Given the description of an element on the screen output the (x, y) to click on. 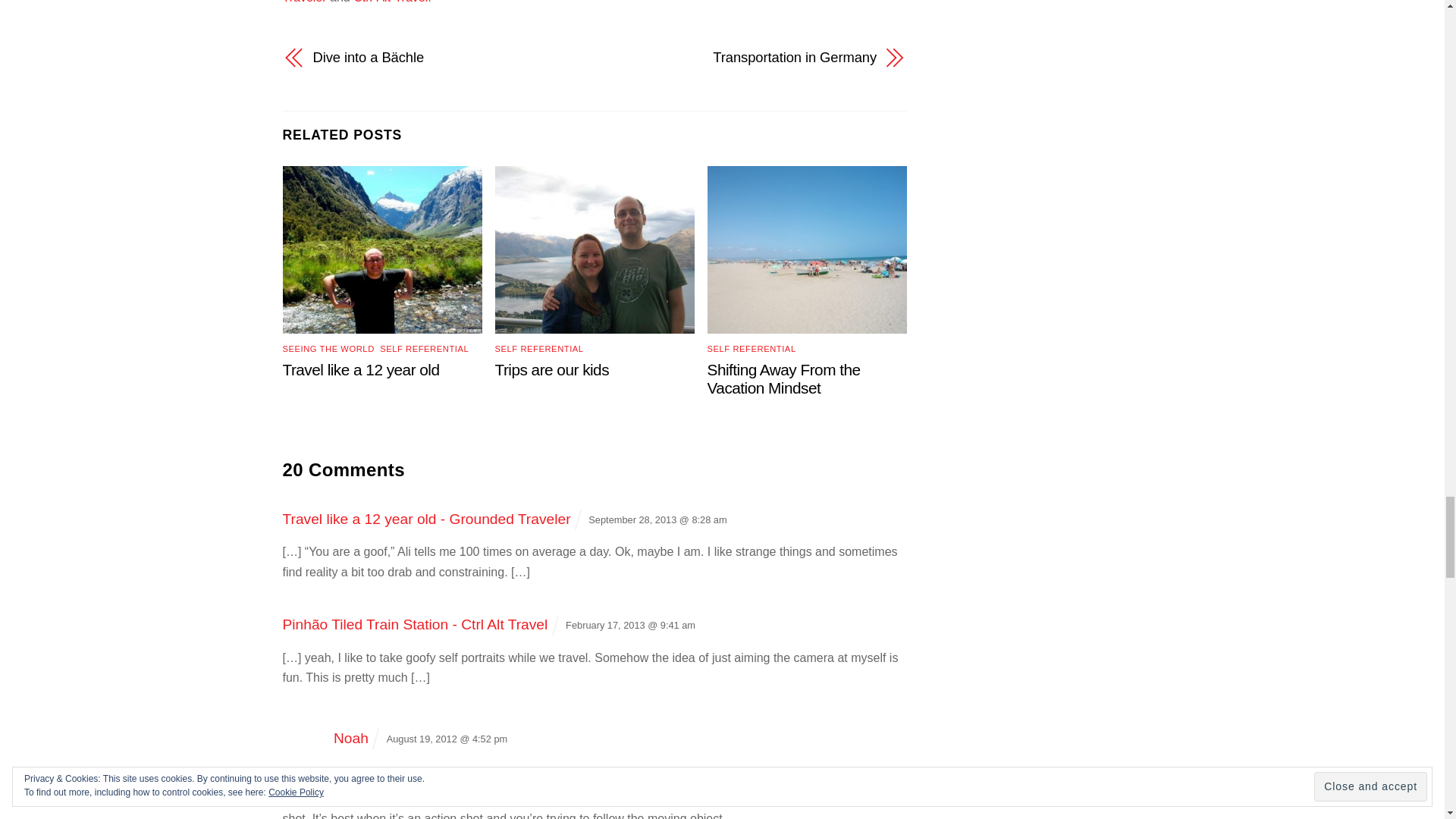
SELF REFERENTIAL (751, 347)
SELF REFERENTIAL (424, 347)
SEEING THE WORLD (328, 347)
Travel like a 12 year old - Grounded Traveler (426, 519)
Trips are our kids (552, 369)
Noah (350, 738)
Travel like a 12 year old (360, 369)
Trips are our kids (552, 369)
Shifting Away From the Vacation Mindset (783, 378)
Ctrl-Alt-Travel (390, 2)
Shifting Away From the Vacation Mindset (783, 378)
SELF REFERENTIAL (539, 347)
Travel like a 12 year old (360, 369)
